Given the description of an element on the screen output the (x, y) to click on. 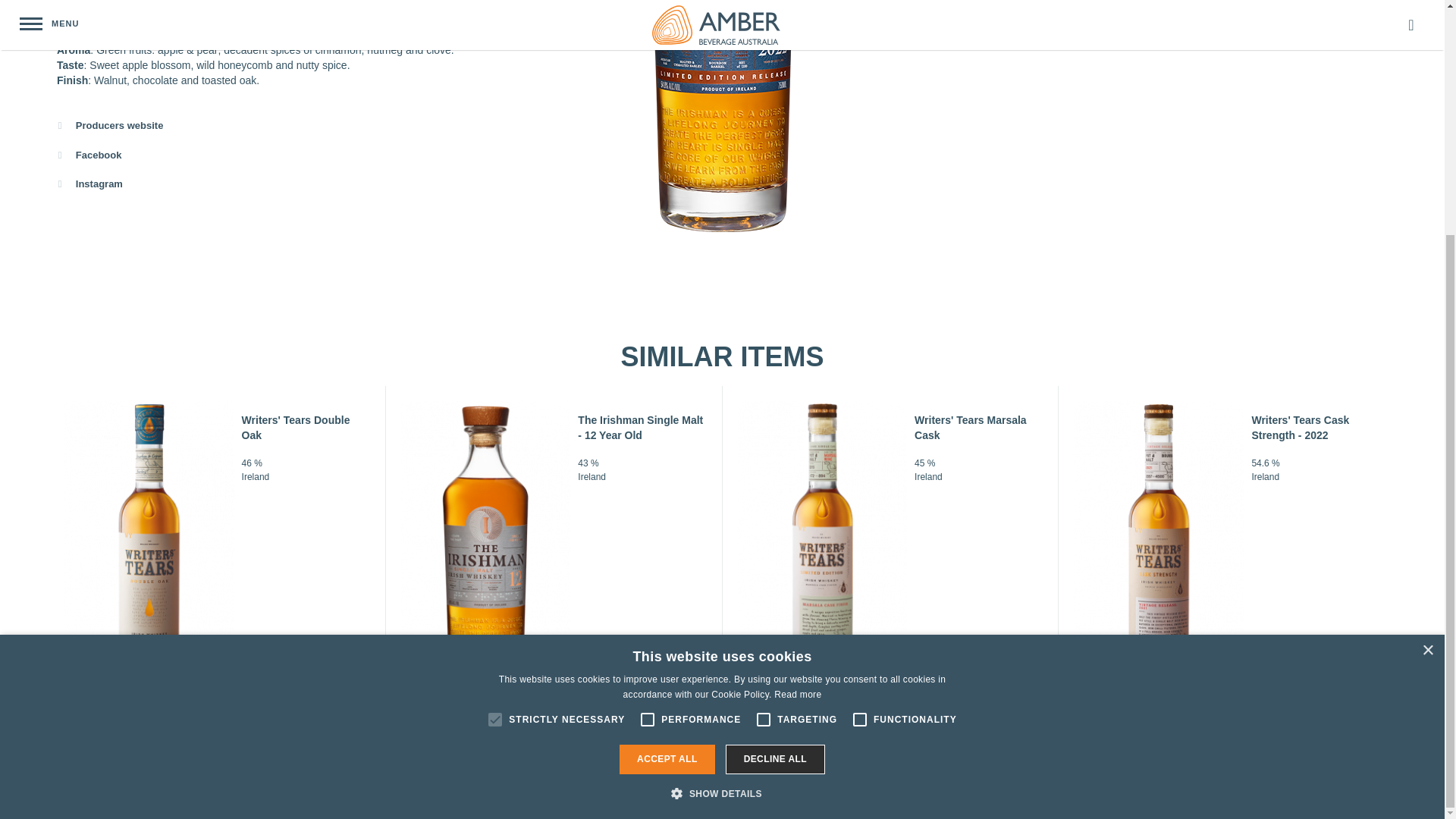
Producers website (268, 125)
AMBER BEVERAGE GROUP (611, 771)
Facebook (268, 155)
Instagram (268, 184)
Read more (797, 374)
CONTACT US (745, 771)
PRIVACY POLICY (856, 771)
